Given the description of an element on the screen output the (x, y) to click on. 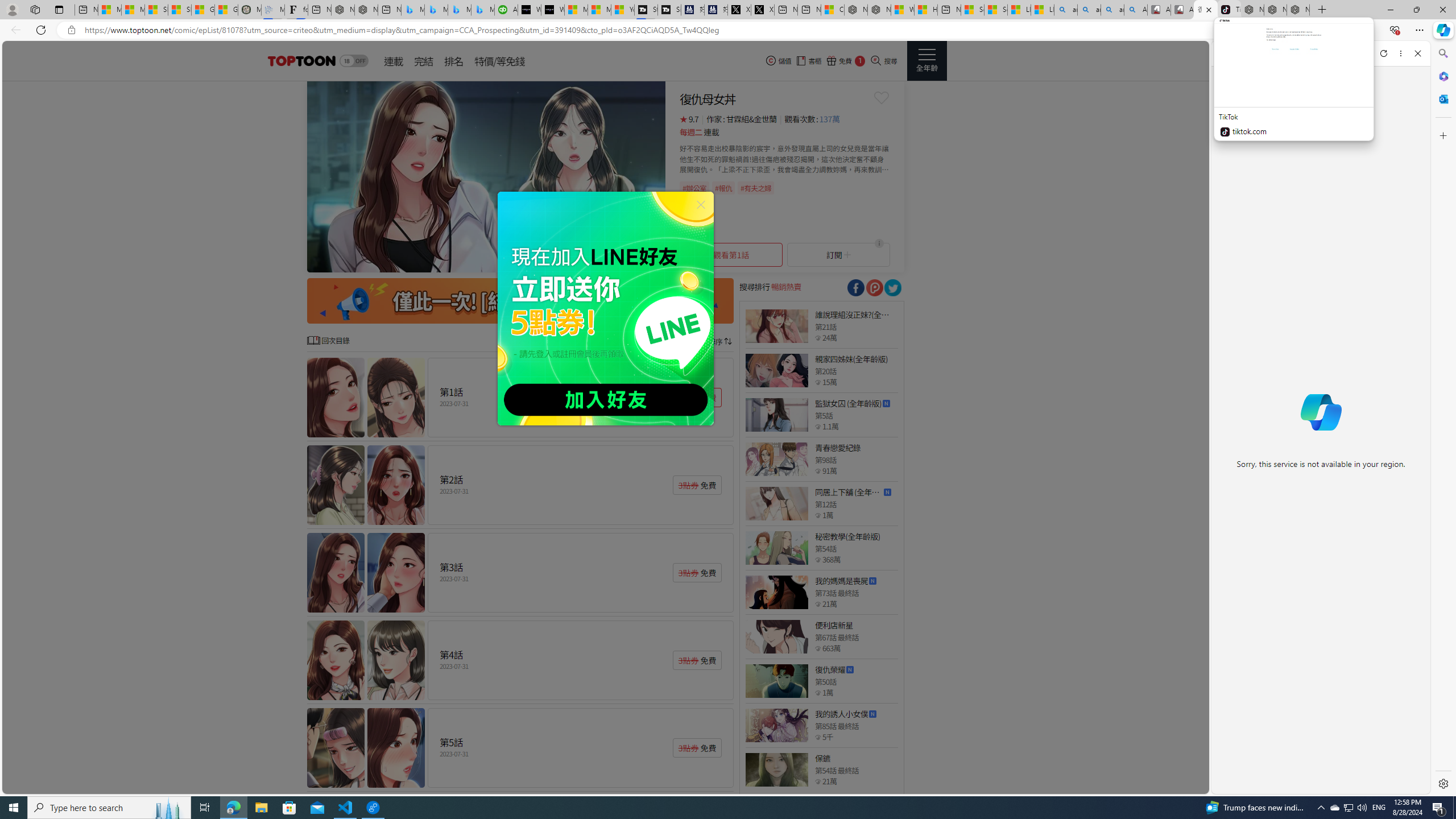
Show translate options (1268, 29)
